Given the description of an element on the screen output the (x, y) to click on. 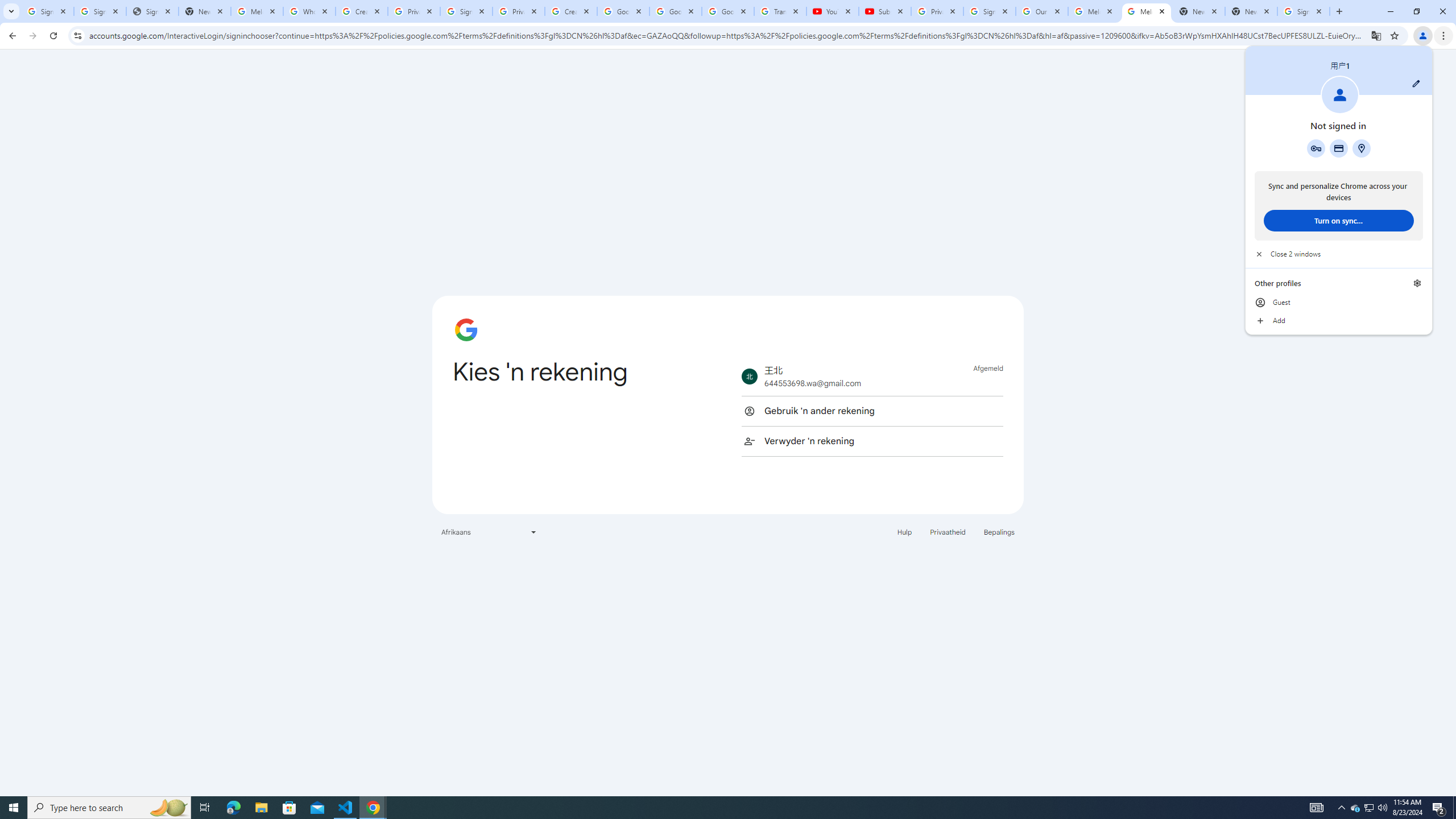
New Tab (1355, 807)
Google Password Manager (1251, 11)
Gebruik 'n ander rekening (1315, 148)
Manage profiles (871, 410)
AutomationID: 4105 (1417, 283)
Sign in - Google Accounts (1316, 807)
